Given the description of an element on the screen output the (x, y) to click on. 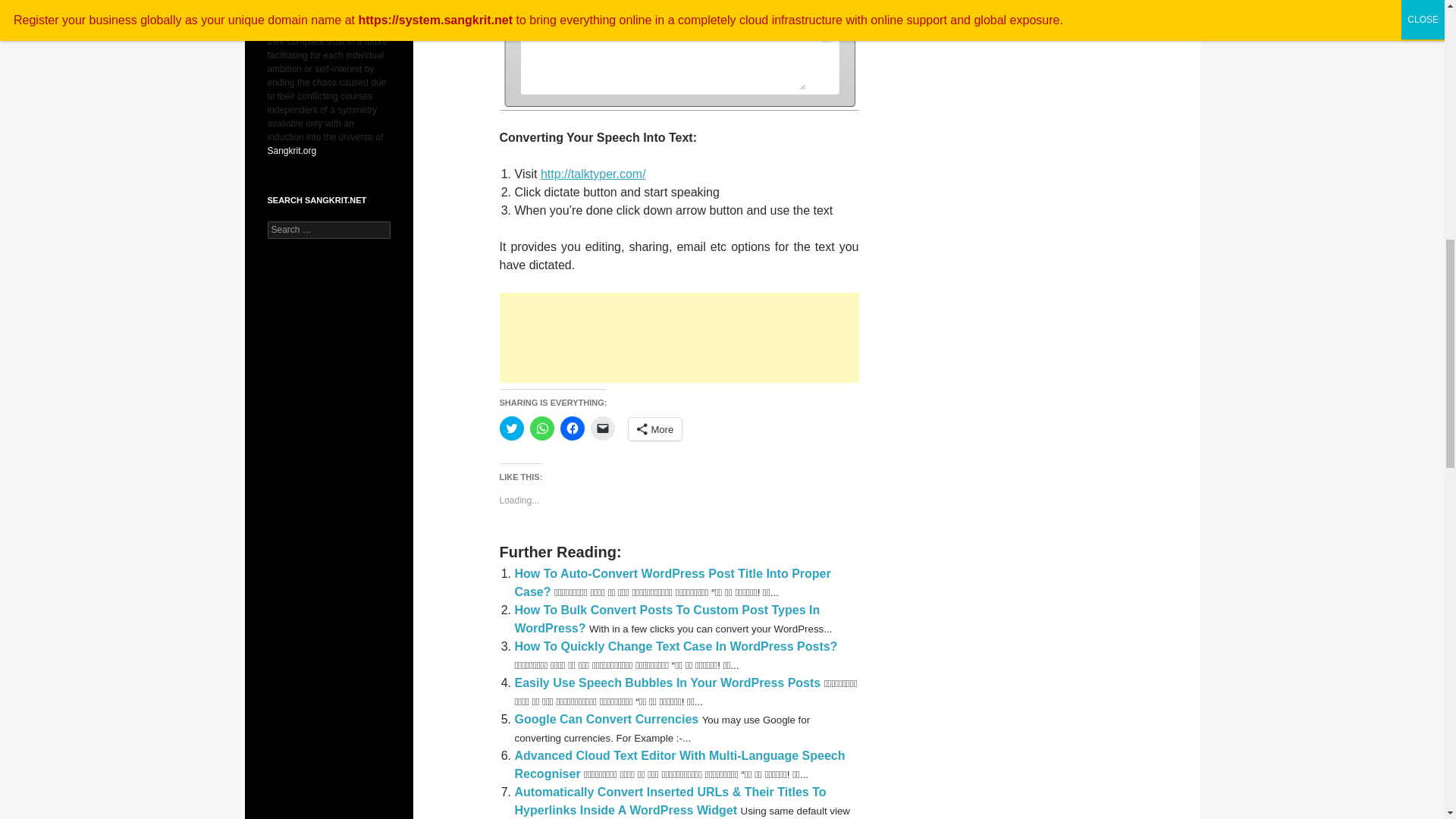
Click to share on WhatsApp (541, 428)
Click to share on Twitter (510, 428)
Advertisement (679, 337)
Click to share on Facebook (571, 428)
Click to email a link to a friend (601, 428)
More (654, 428)
